Given the description of an element on the screen output the (x, y) to click on. 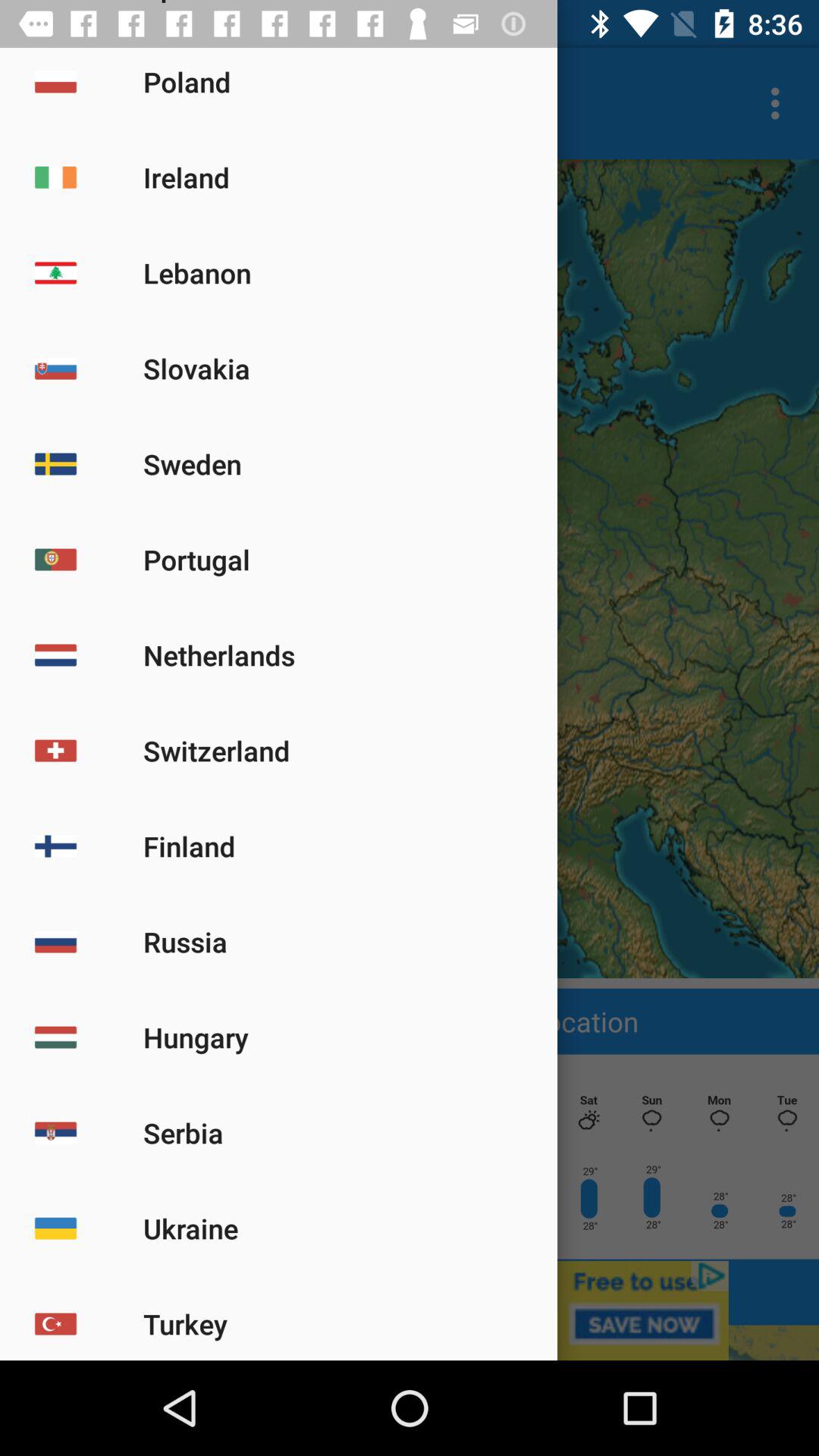
select the icon which is top right corner (779, 103)
